Given the description of an element on the screen output the (x, y) to click on. 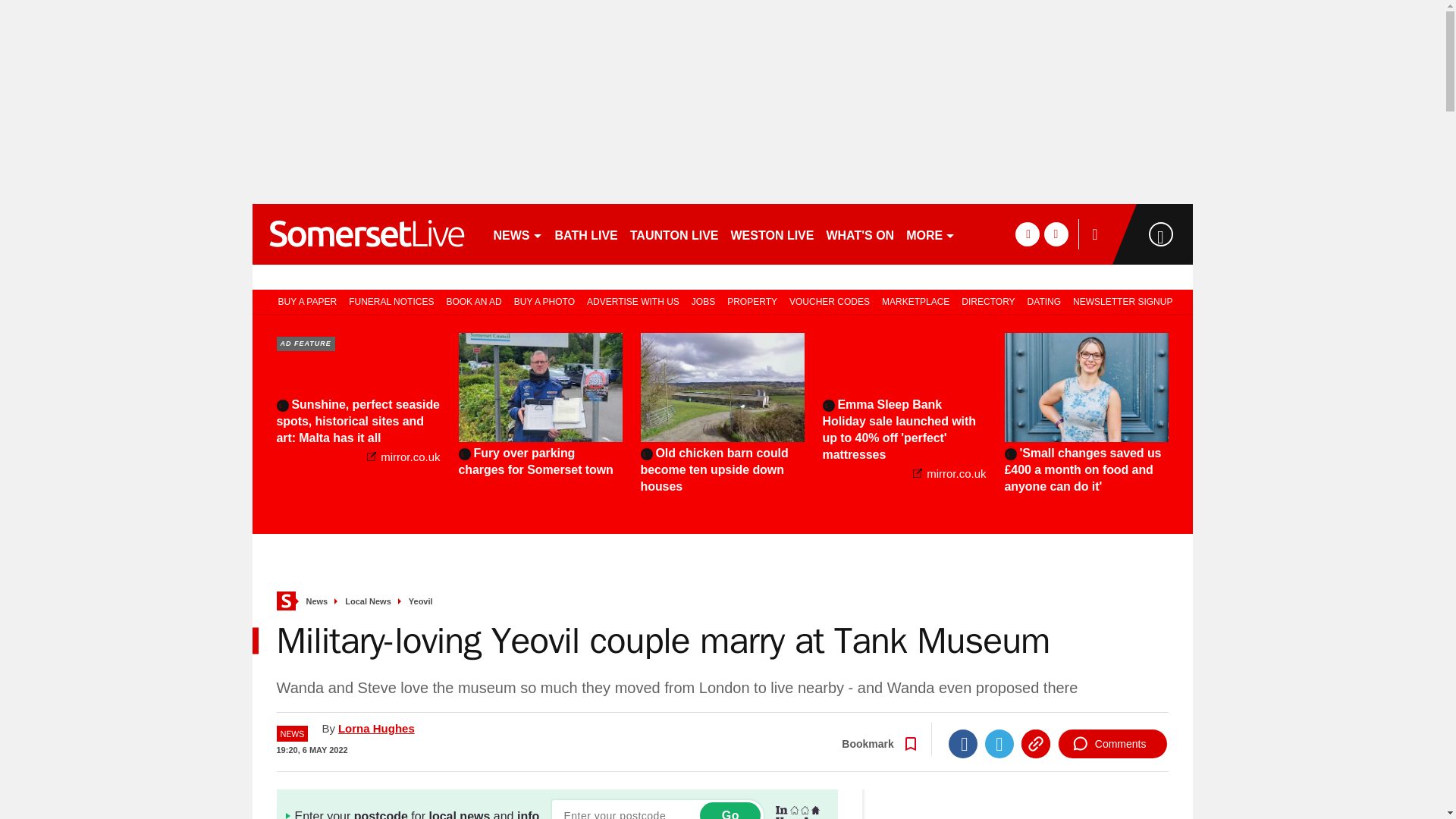
BATH LIVE (586, 233)
facebook (1026, 233)
MORE (929, 233)
WESTON LIVE (773, 233)
Go (730, 810)
Facebook (962, 743)
TAUNTON LIVE (674, 233)
NEWS (517, 233)
somersetlive (365, 233)
twitter (1055, 233)
